Given the description of an element on the screen output the (x, y) to click on. 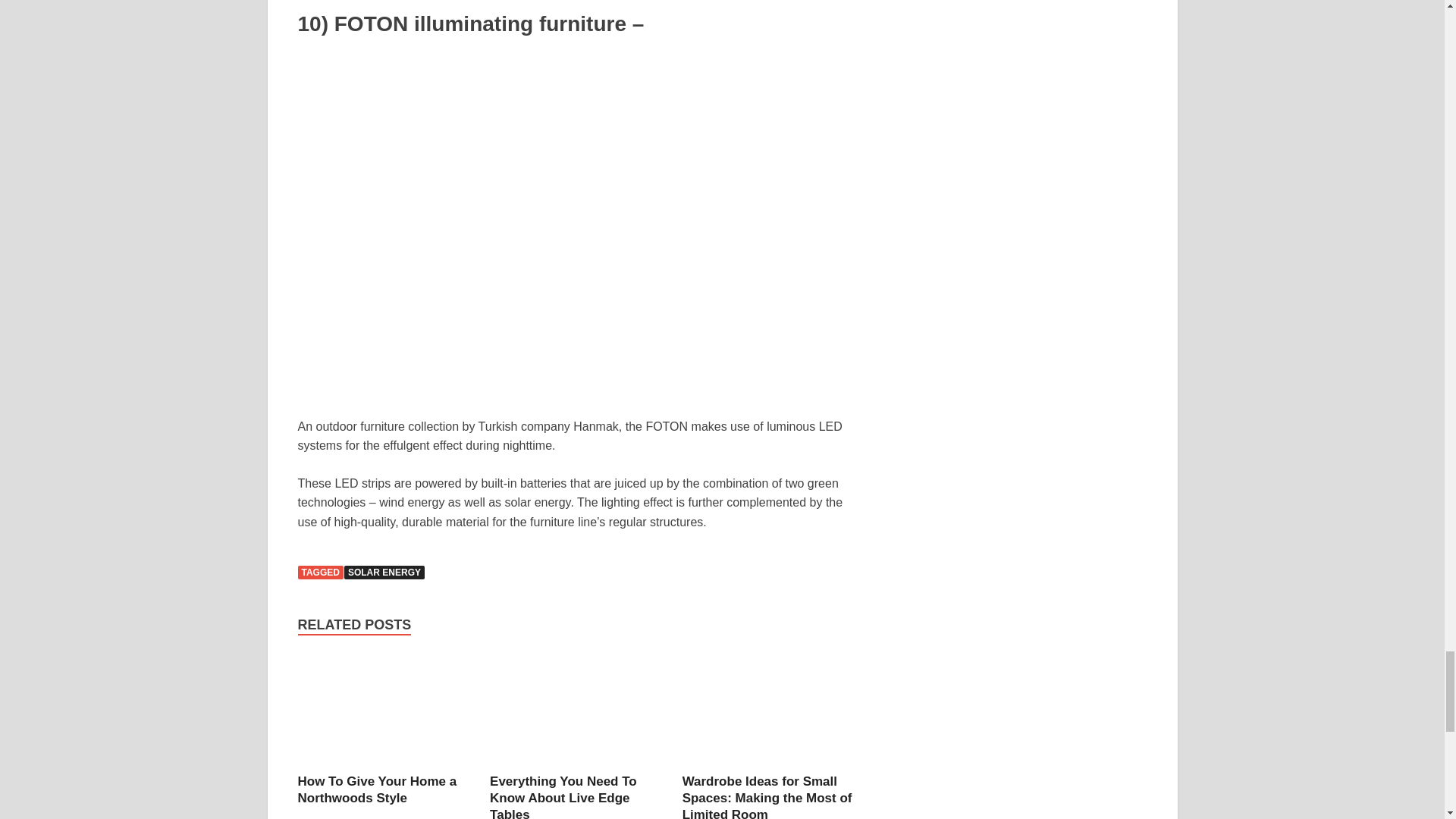
How To Give Your Home a Northwoods Style (377, 789)
Everything You Need To Know About Live Edge Tables (575, 712)
Everything You Need To Know About Live Edge Tables (563, 796)
How To Give Your Home a Northwoods Style (377, 789)
Everything You Need To Know About Live Edge Tables (563, 796)
How To Give Your Home a Northwoods Style (383, 712)
SOLAR ENERGY (384, 572)
